Given the description of an element on the screen output the (x, y) to click on. 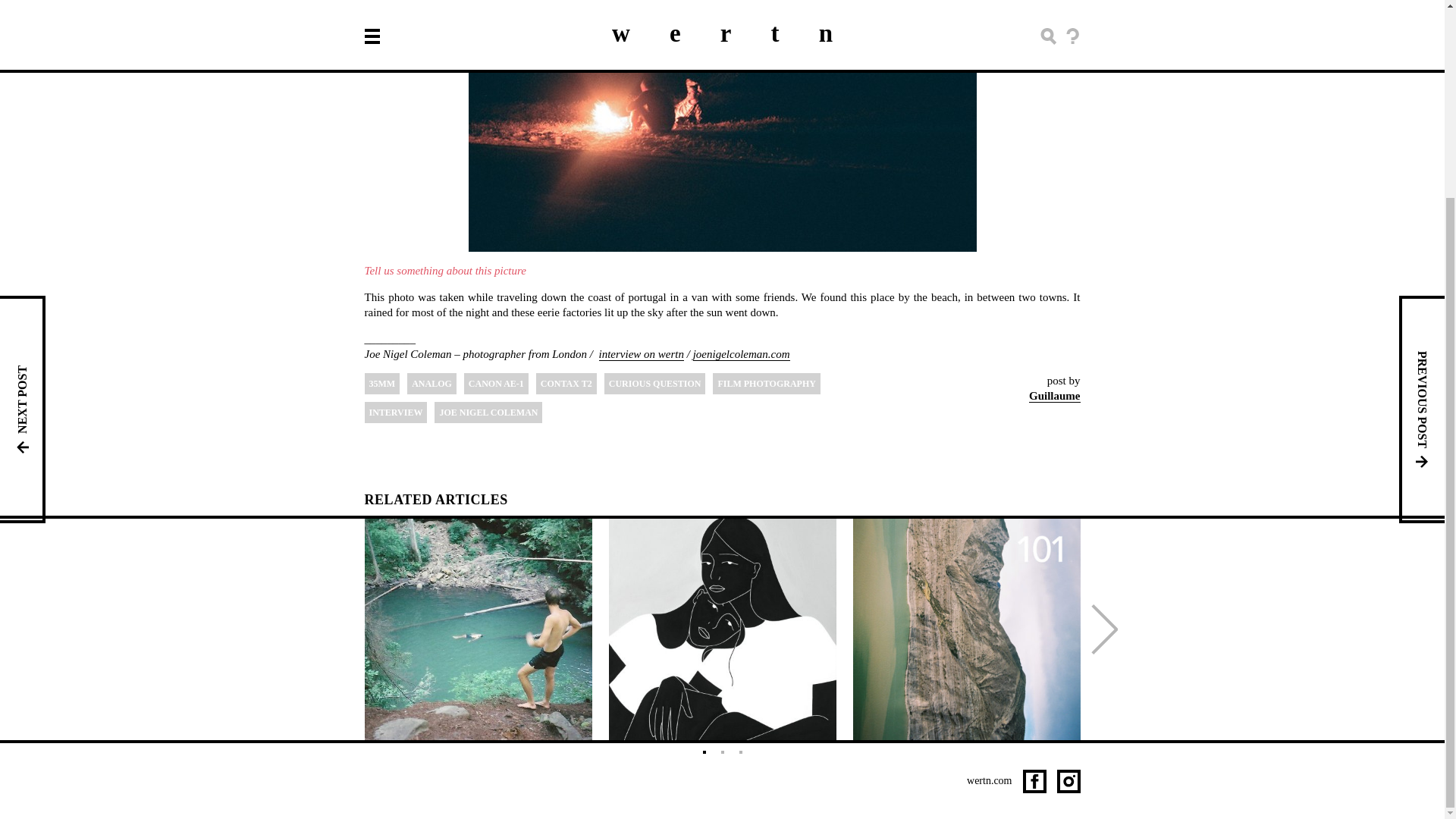
joenigelcoleman.com (741, 354)
interview on wertn (641, 354)
CONTAX T2 (565, 383)
CURIOUS QUESTION (655, 383)
ANALOG (432, 383)
35MM (381, 383)
INTERVIEW (395, 412)
Guillaume (1054, 395)
FILM PHOTOGRAPHY (766, 383)
JOE NIGEL COLEMAN (487, 412)
